Given the description of an element on the screen output the (x, y) to click on. 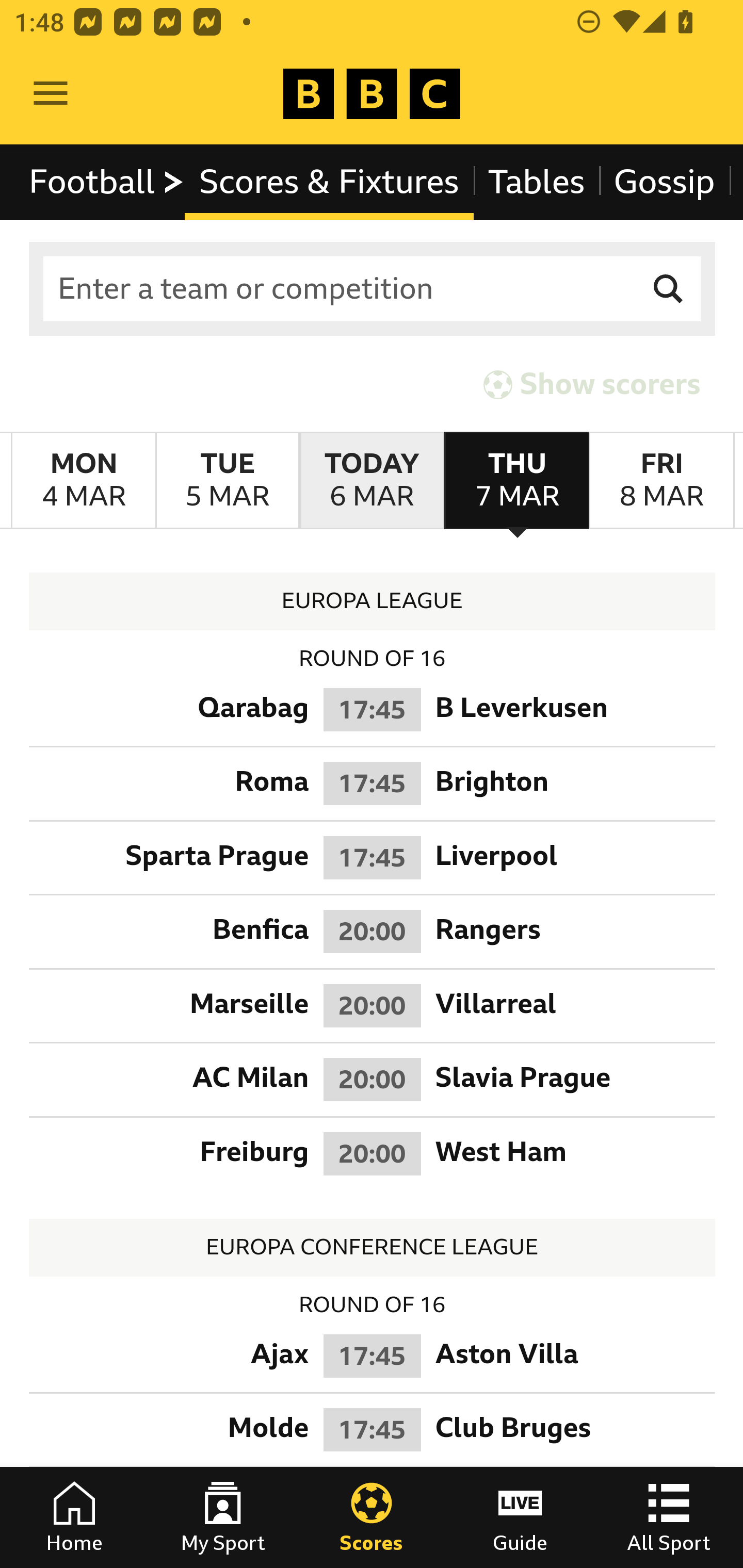
Open Menu (50, 93)
Football  (106, 181)
Scores & Fixtures (329, 181)
Tables (536, 181)
Gossip (664, 181)
Search (669, 289)
Show scorers (591, 383)
MondayMarch 4th Monday March 4th (83, 480)
TuesdayMarch 5th Tuesday March 5th (227, 480)
TodayMarch 6th Today March 6th (371, 480)
FridayMarch 8th Friday March 8th (661, 480)
Home (74, 1517)
My Sport (222, 1517)
Guide (519, 1517)
All Sport (668, 1517)
